Given the description of an element on the screen output the (x, y) to click on. 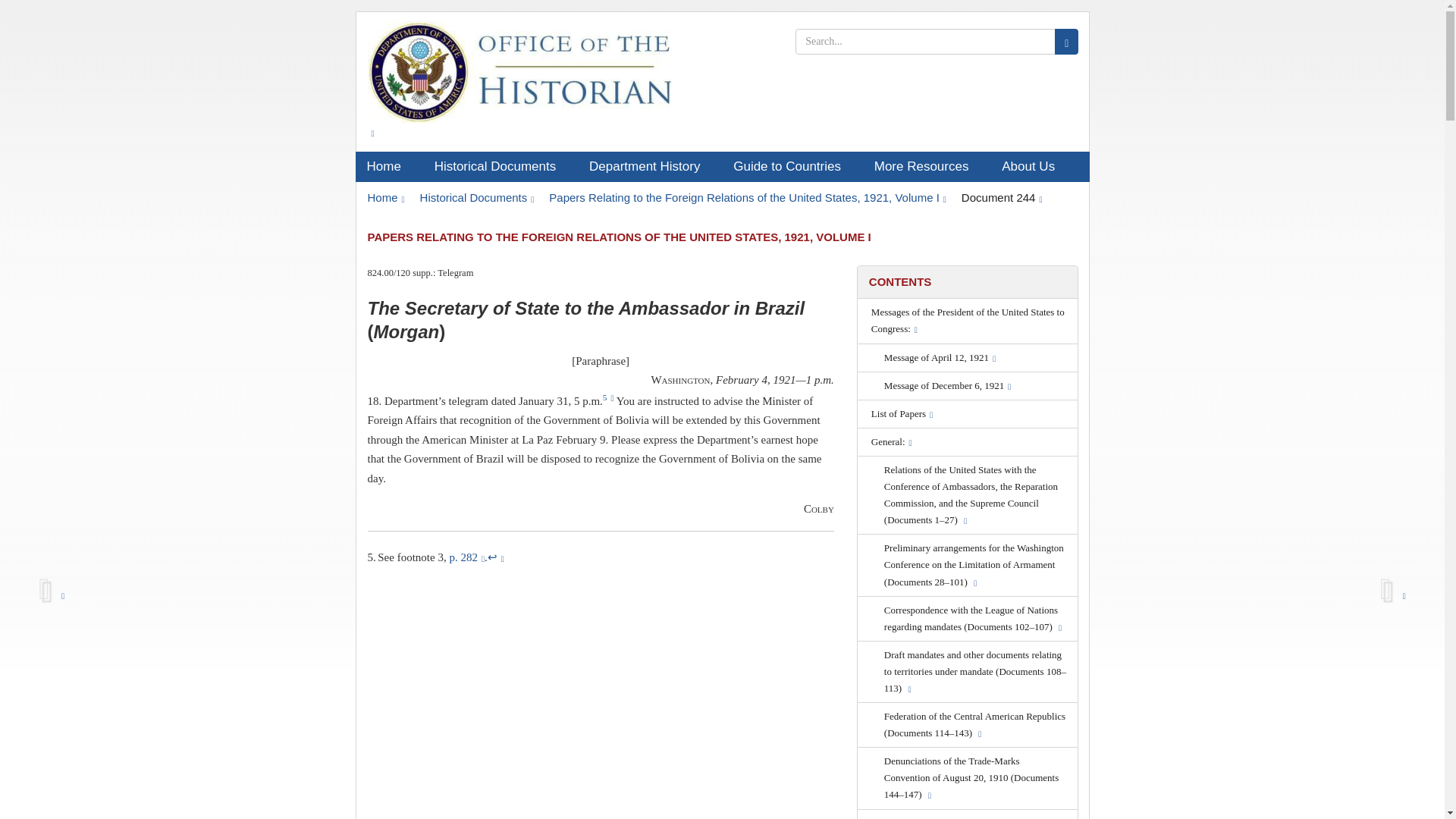
Historical Documents (477, 196)
Home (388, 166)
More Resources (926, 166)
Home (385, 196)
Department History (650, 166)
Historical Documents (500, 166)
Guide to Countries (792, 166)
About Us (1033, 166)
Document 244 (1001, 196)
